Given the description of an element on the screen output the (x, y) to click on. 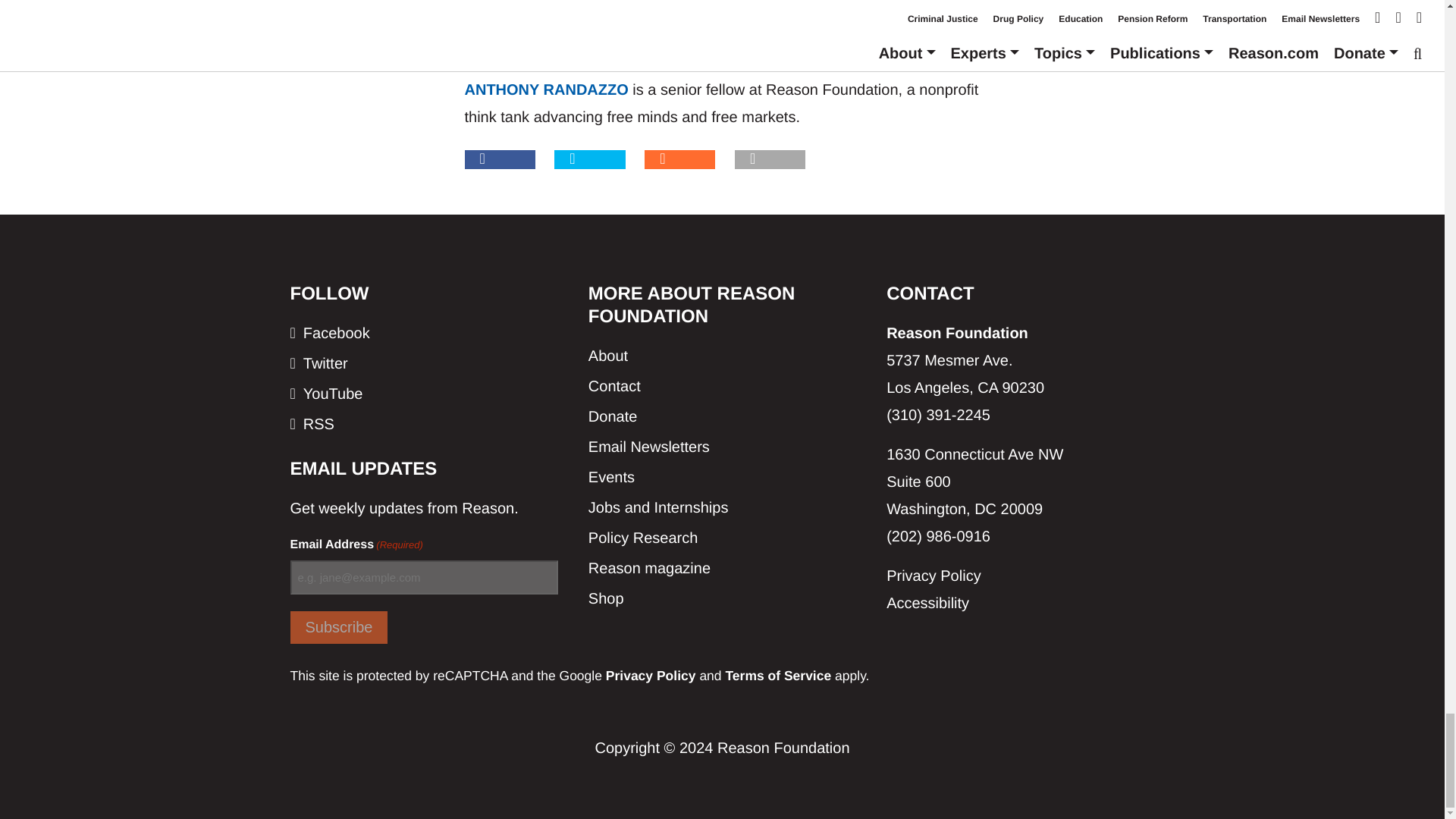
Subscribe (338, 626)
